Given the description of an element on the screen output the (x, y) to click on. 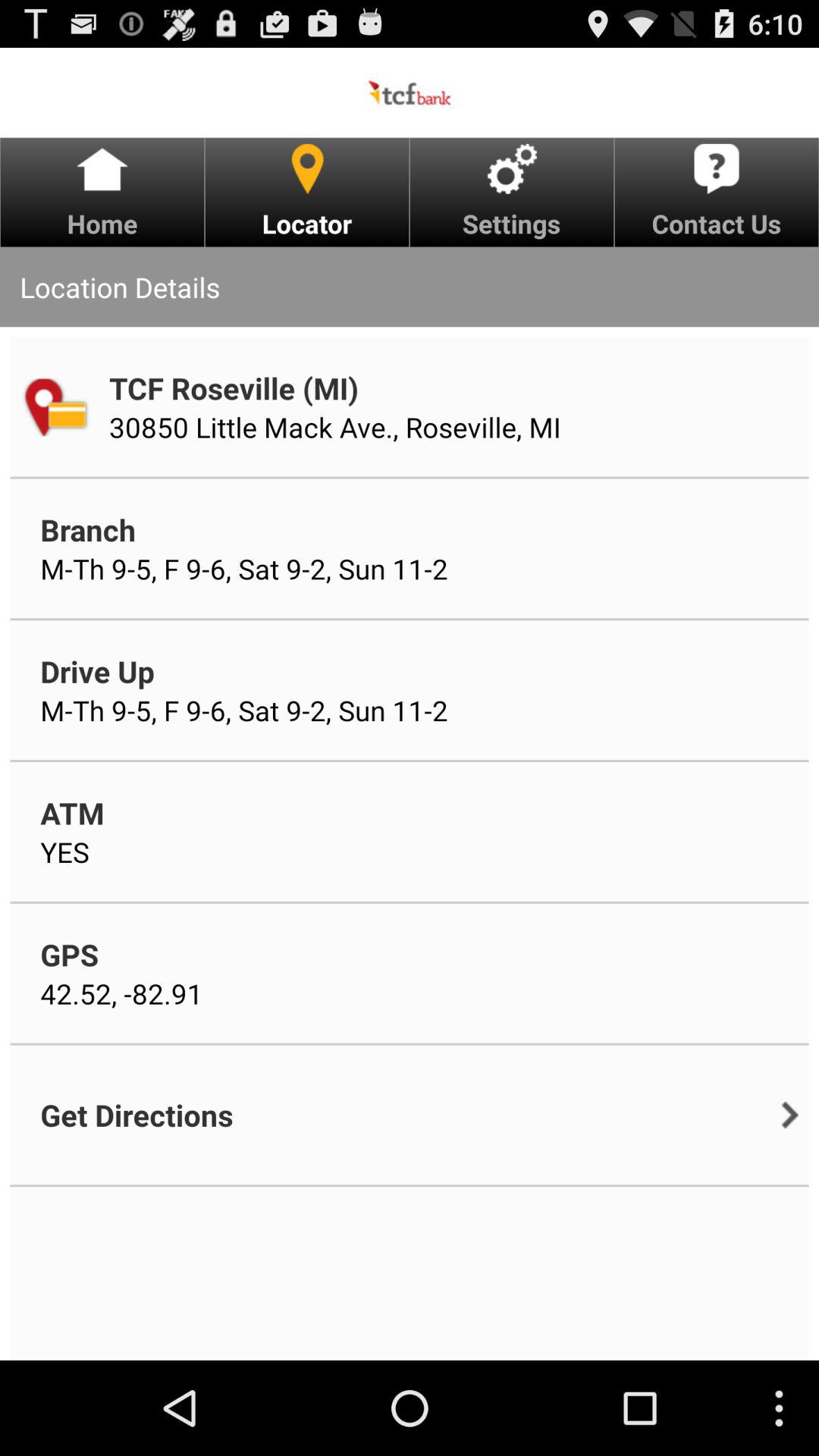
select app next to the tcf roseville (mi) item (54, 406)
